Given the description of an element on the screen output the (x, y) to click on. 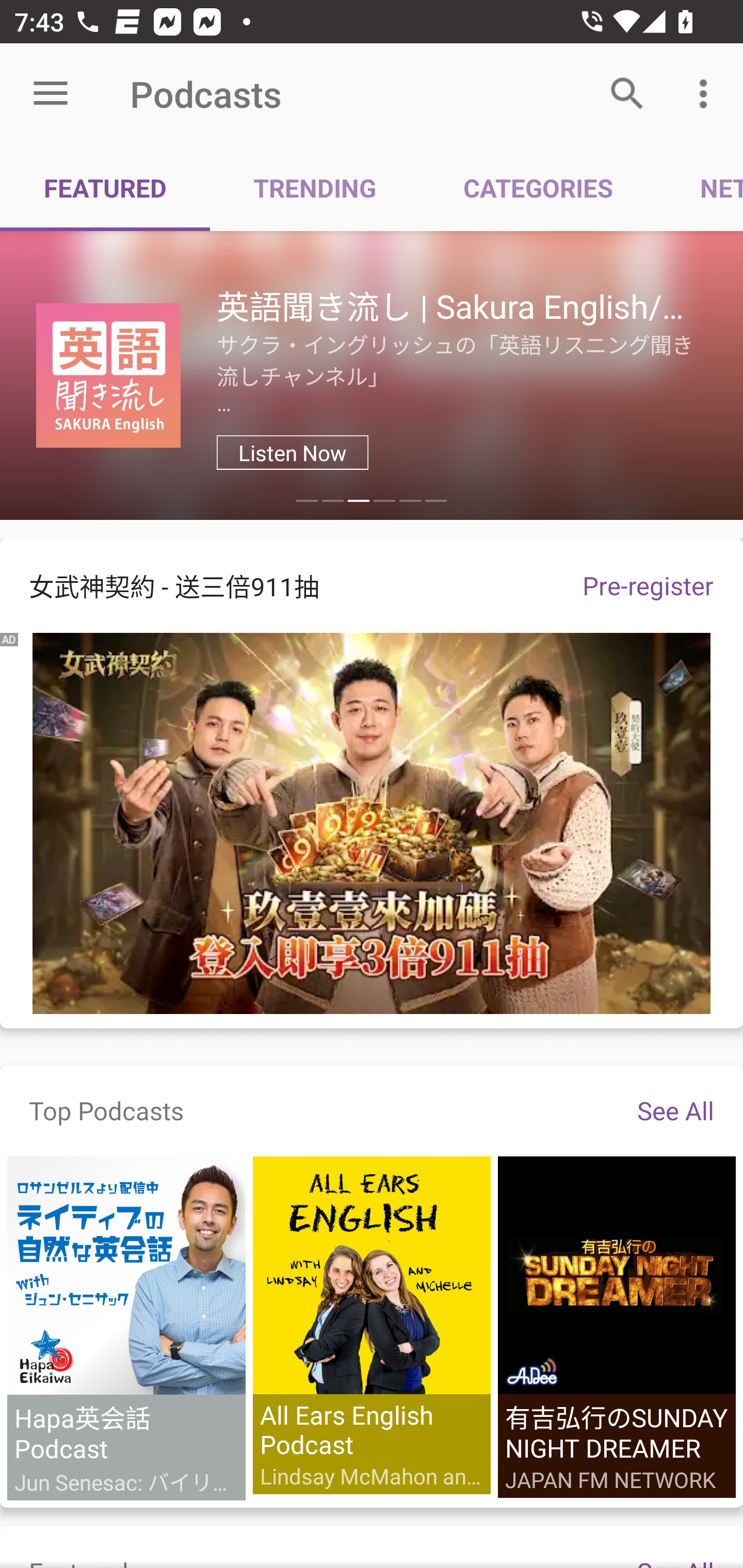
Open menu (50, 93)
Search (626, 93)
More options (706, 93)
FEATURED (105, 187)
TRENDING (314, 187)
CATEGORIES (537, 187)
女武神契約 - 送三倍911抽 (276, 585)
Pre-register (648, 584)
Top Podcasts (106, 1109)
See All (675, 1109)
有吉弘行のSUNDAY NIGHT DREAMER JAPAN FM NETWORK (616, 1327)
